Given the description of an element on the screen output the (x, y) to click on. 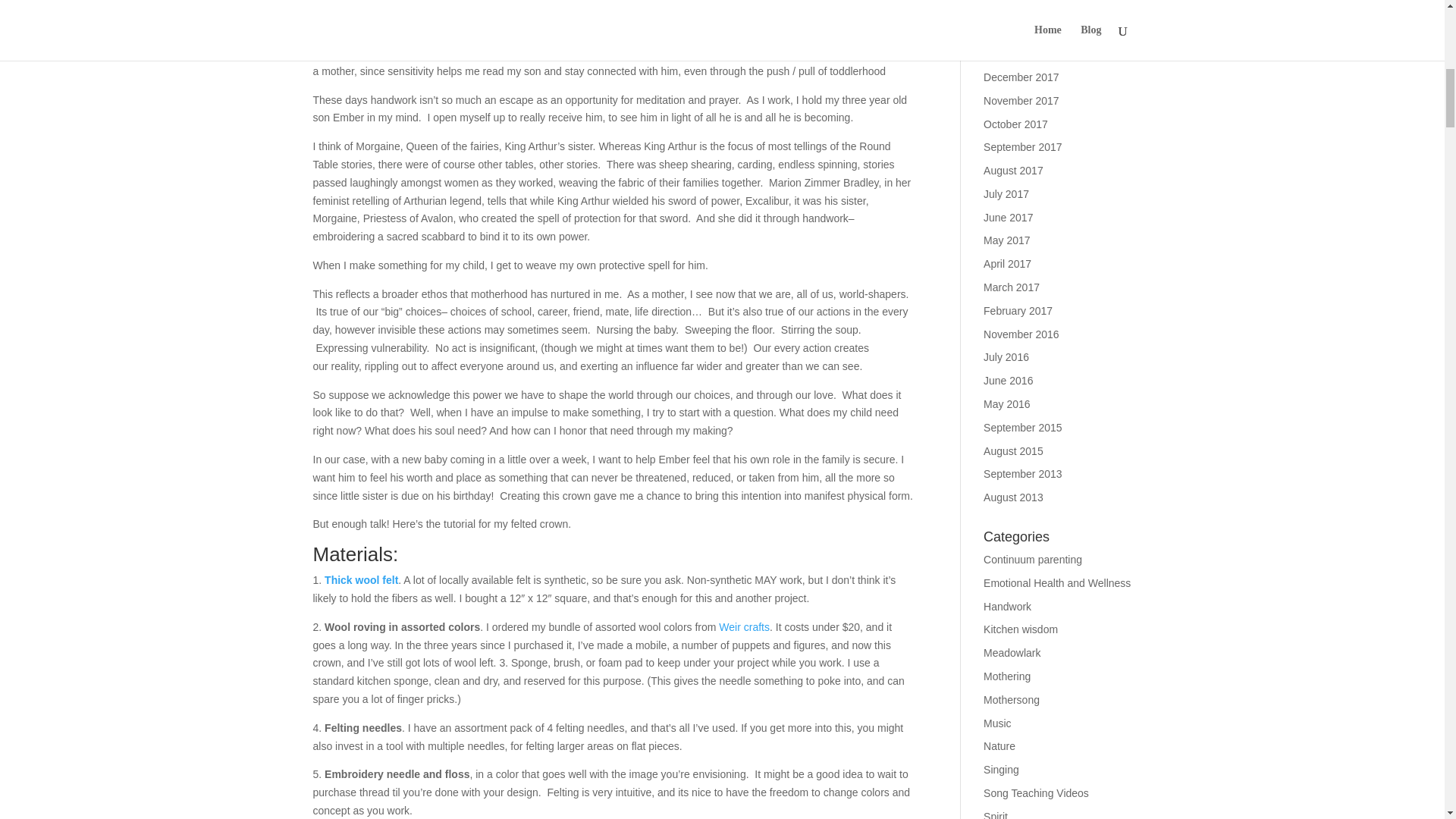
Weir crafts (744, 626)
Thick wool felt (360, 580)
